Given the description of an element on the screen output the (x, y) to click on. 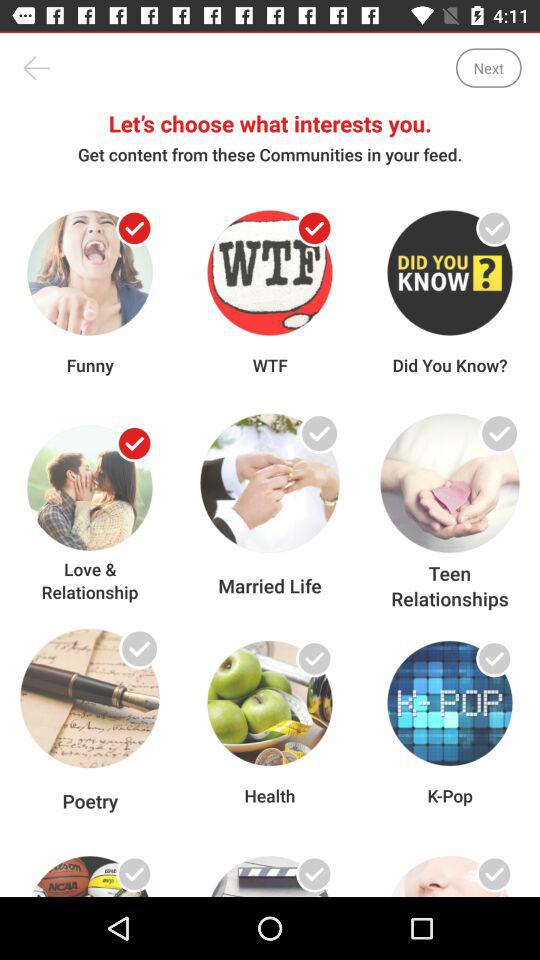
select/unsect this topic (134, 228)
